Given the description of an element on the screen output the (x, y) to click on. 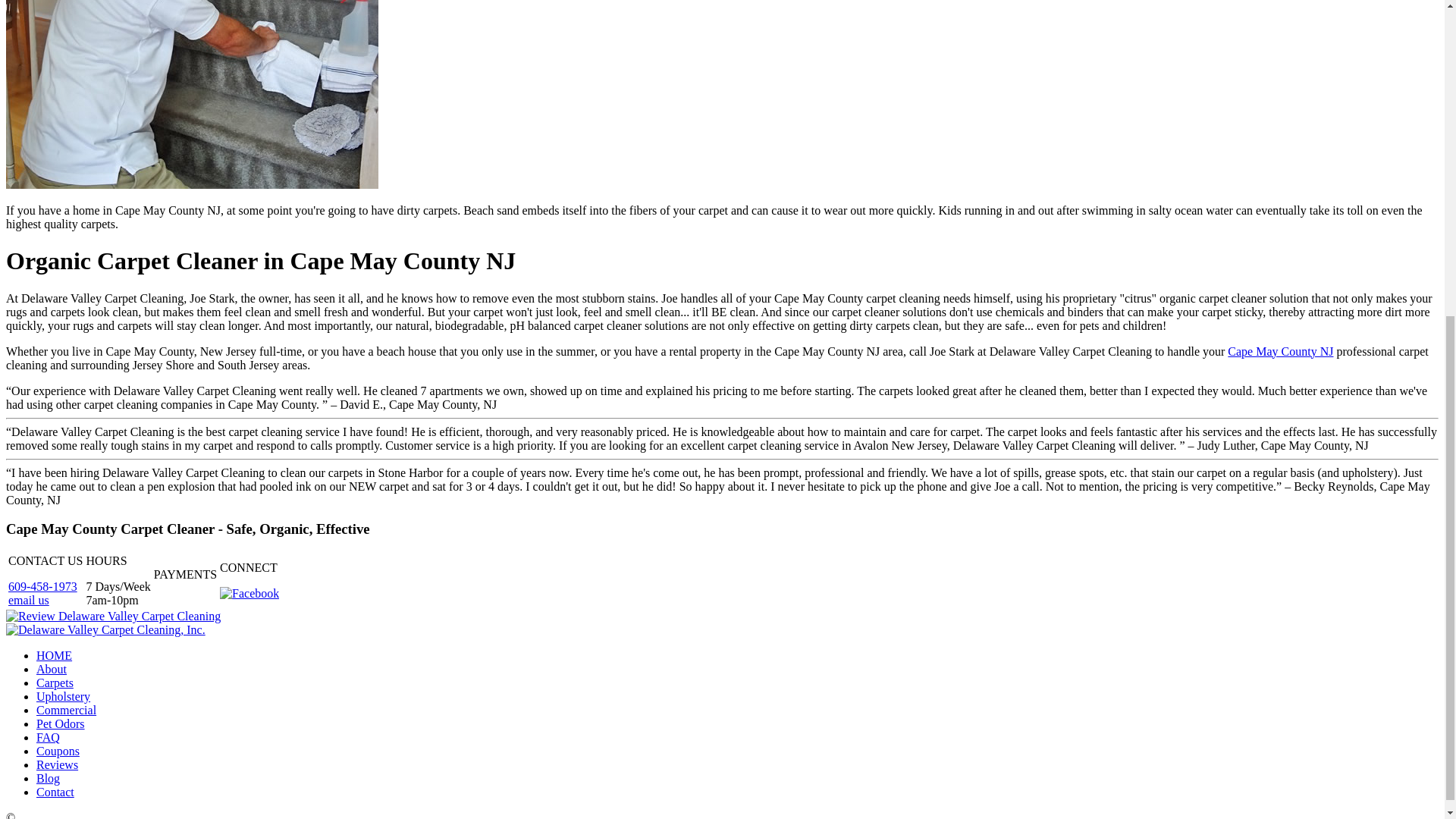
HOME (53, 655)
email us (28, 599)
About (51, 668)
Pet Odors (60, 723)
609-458-1973 (42, 585)
Carpets (55, 682)
Facebook (249, 593)
Cape May County NJ (1280, 350)
Reviews (57, 764)
Commercial (66, 709)
